Given the description of an element on the screen output the (x, y) to click on. 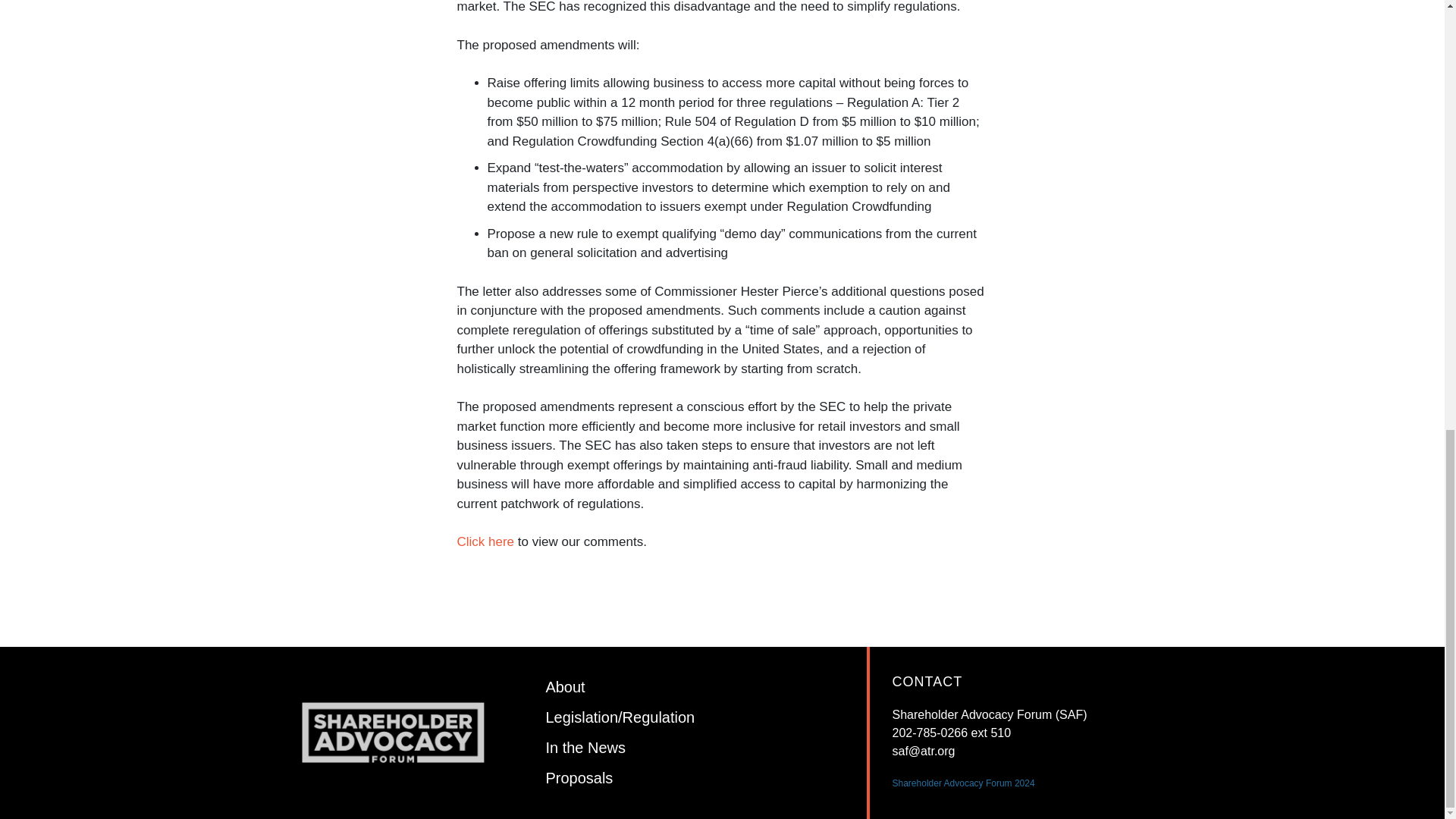
Click here  (486, 541)
In the News (585, 747)
Proposals (578, 777)
About (564, 686)
